Given the description of an element on the screen output the (x, y) to click on. 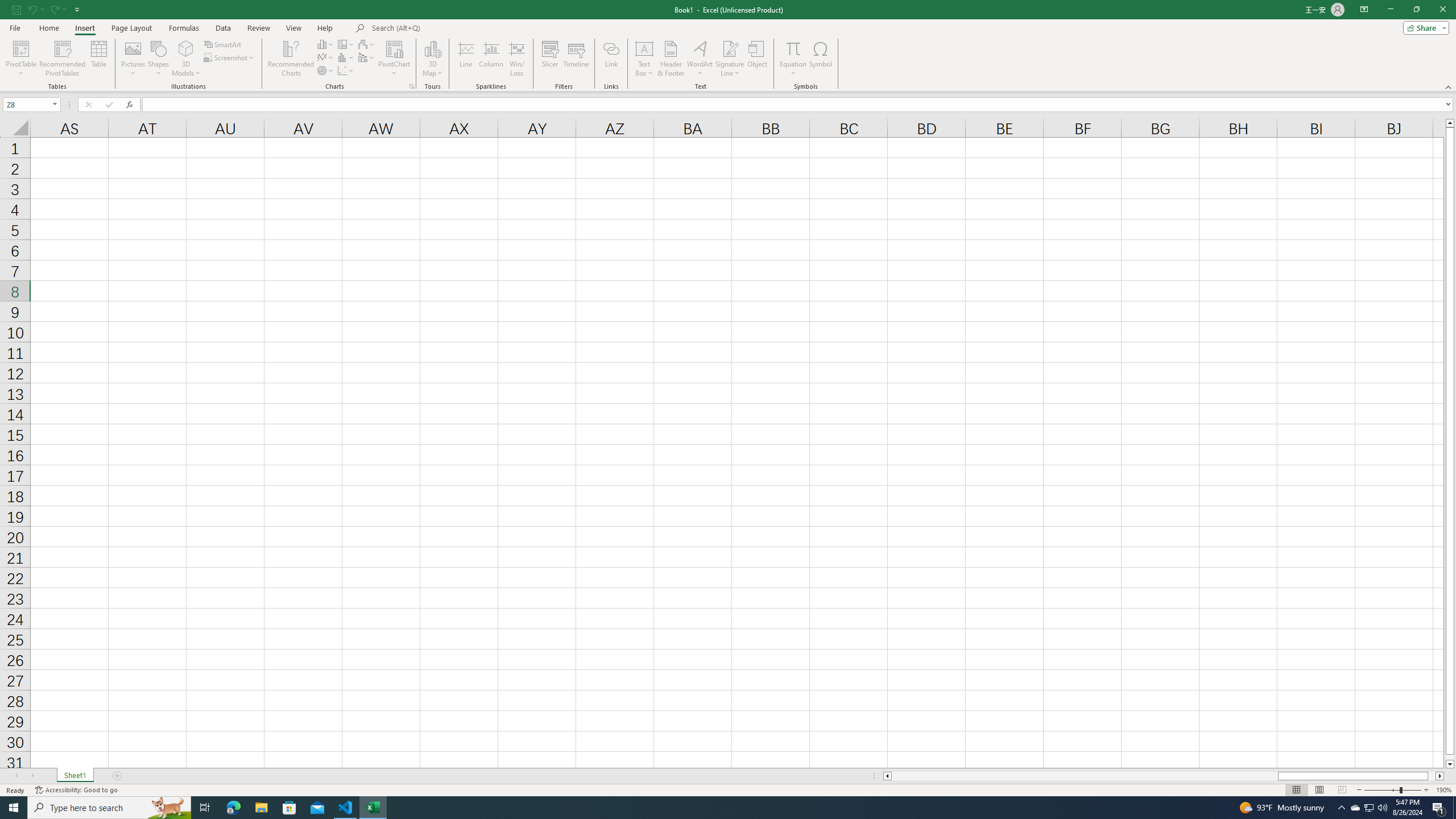
Screenshot (229, 56)
Insert Pie or Doughnut Chart (325, 69)
WordArt (699, 58)
Line (465, 58)
Table (98, 58)
Formula Bar (798, 104)
Insert Column or Bar Chart (325, 44)
Pictures (133, 58)
